Given the description of an element on the screen output the (x, y) to click on. 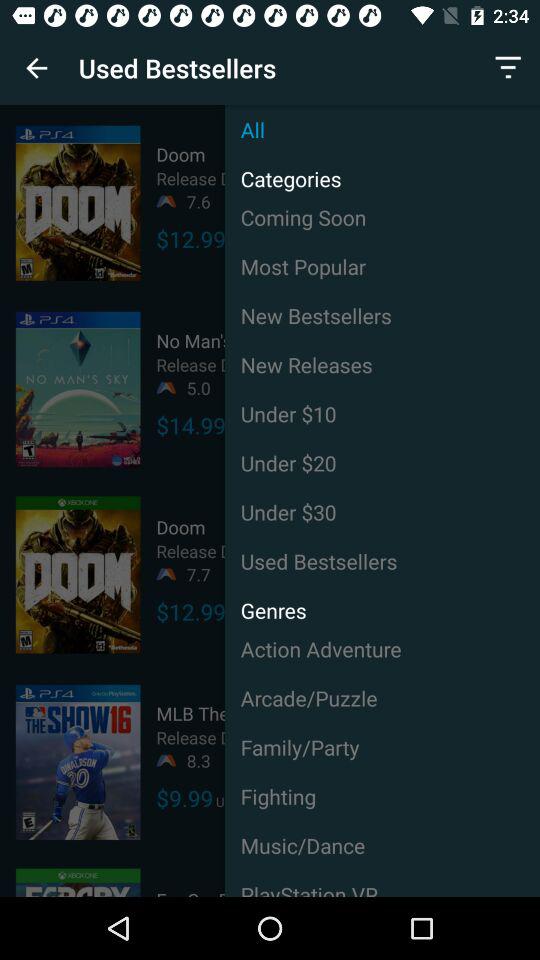
scroll until the new bestsellers item (382, 315)
